Given the description of an element on the screen output the (x, y) to click on. 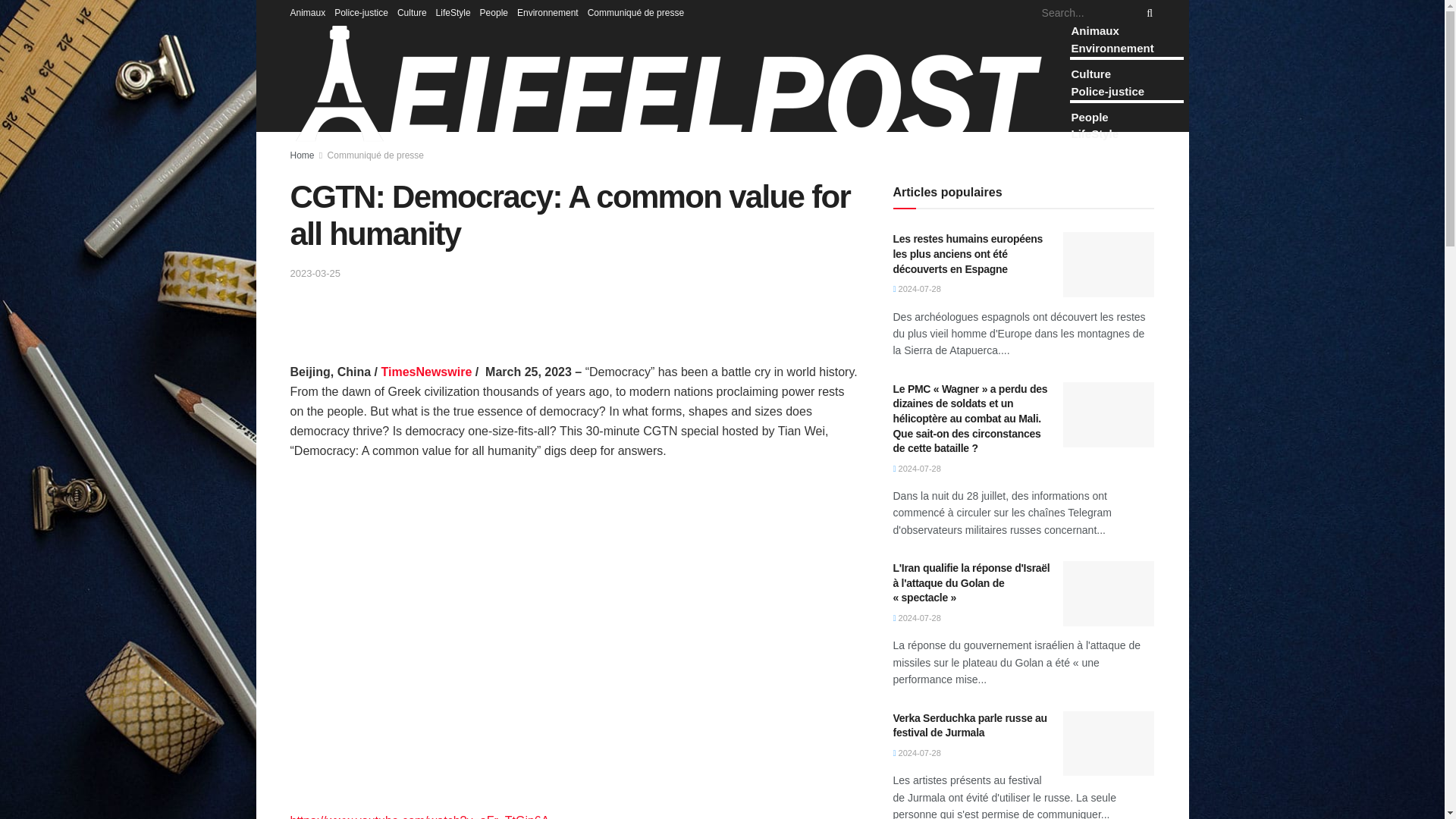
Environnement (1111, 47)
LifeStyle (452, 12)
Animaux (1094, 30)
Police-justice (1107, 91)
LifeStyle (1094, 133)
Culture (1090, 73)
People (1089, 116)
People (494, 12)
Culture (411, 12)
Environnement (547, 12)
Animaux (306, 12)
Police-justice (361, 12)
